Given the description of an element on the screen output the (x, y) to click on. 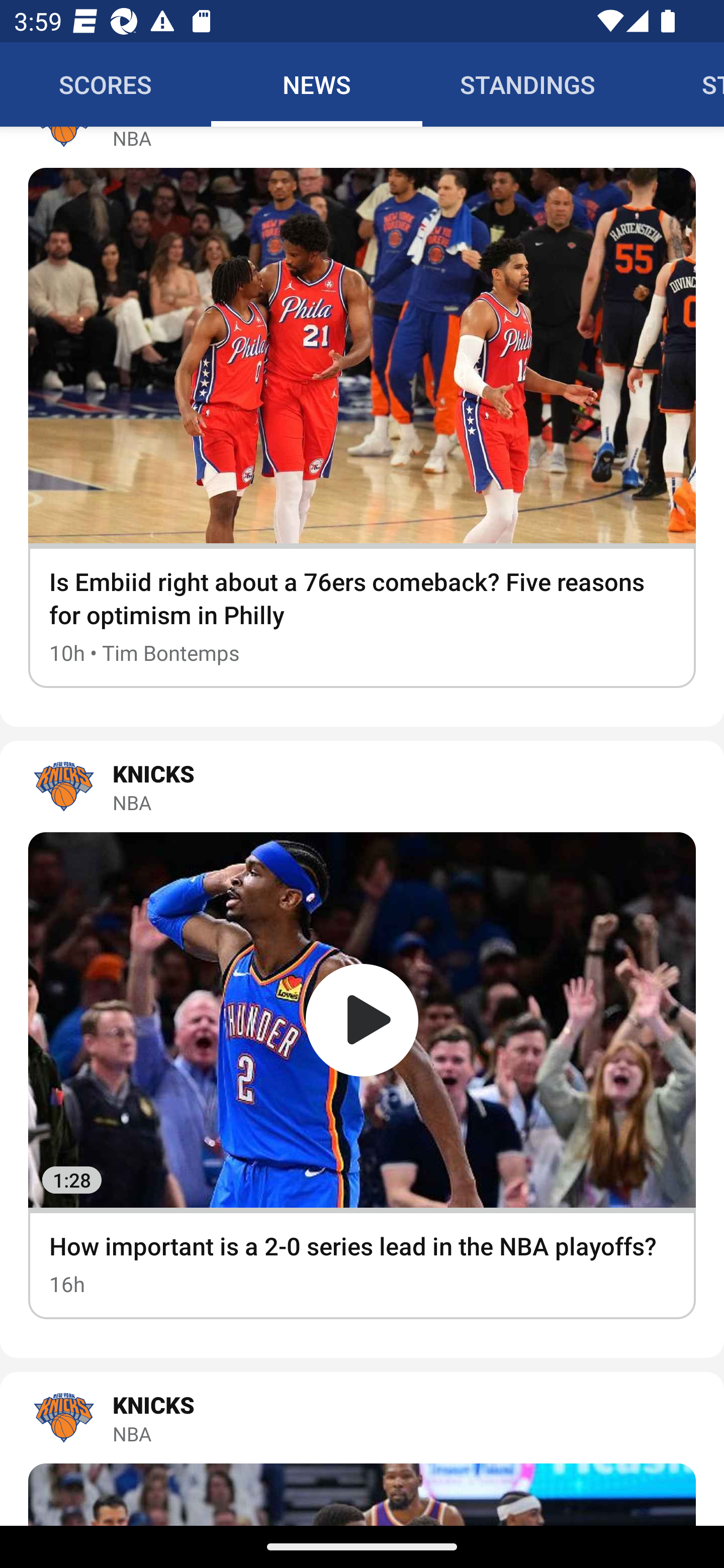
Scores SCORES (105, 84)
Standings STANDINGS (527, 84)
KNICKS NBA (362, 786)
KNICKS NBA (362, 1417)
